Given the description of an element on the screen output the (x, y) to click on. 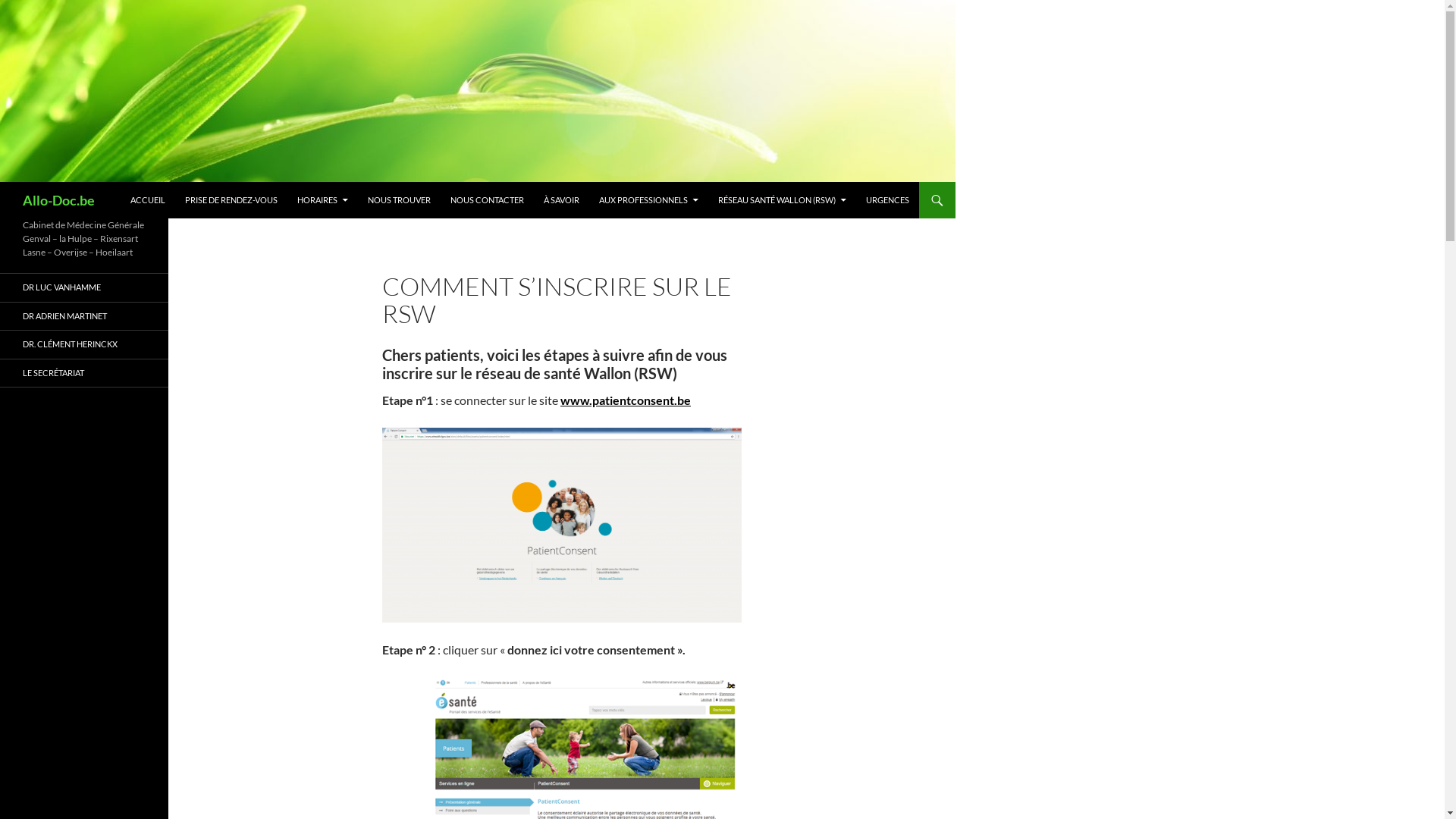
ACCUEIL Element type: text (147, 200)
DR LUC VANHAMME Element type: text (84, 287)
NOUS CONTACTER Element type: text (487, 200)
NOUS TROUVER Element type: text (398, 200)
Recherche Element type: text (3, 181)
ALLER AU CONTENU Element type: text (129, 181)
Allo-Doc.be Element type: text (58, 200)
DR ADRIEN MARTINET Element type: text (84, 315)
AUX PROFESSIONNELS Element type: text (648, 200)
HORAIRES Element type: text (322, 200)
URGENCES Element type: text (887, 200)
www.patientconsent.be Element type: text (625, 399)
PRISE DE RENDEZ-VOUS Element type: text (230, 200)
